Given the description of an element on the screen output the (x, y) to click on. 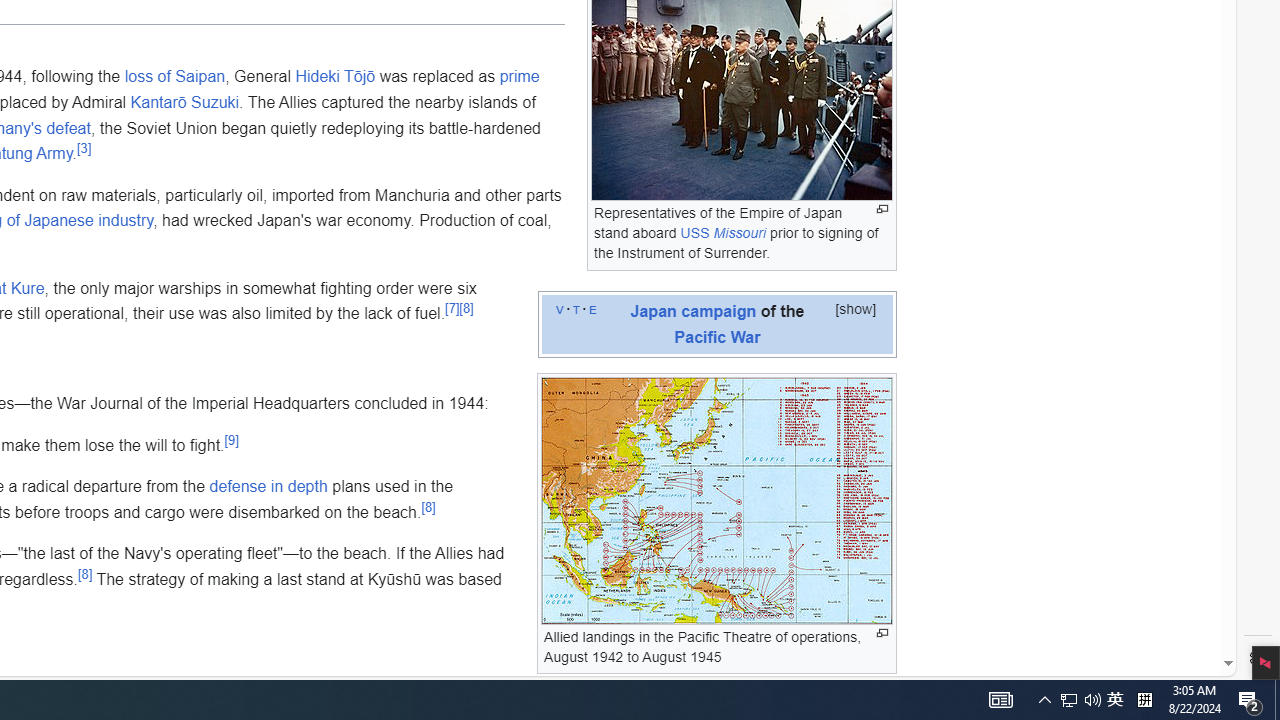
[7] (452, 308)
e (591, 308)
Japan campaign (692, 309)
Class: mw-file-description (716, 499)
Class: mw-file-element (717, 499)
loss of Saipan (175, 76)
